Given the description of an element on the screen output the (x, y) to click on. 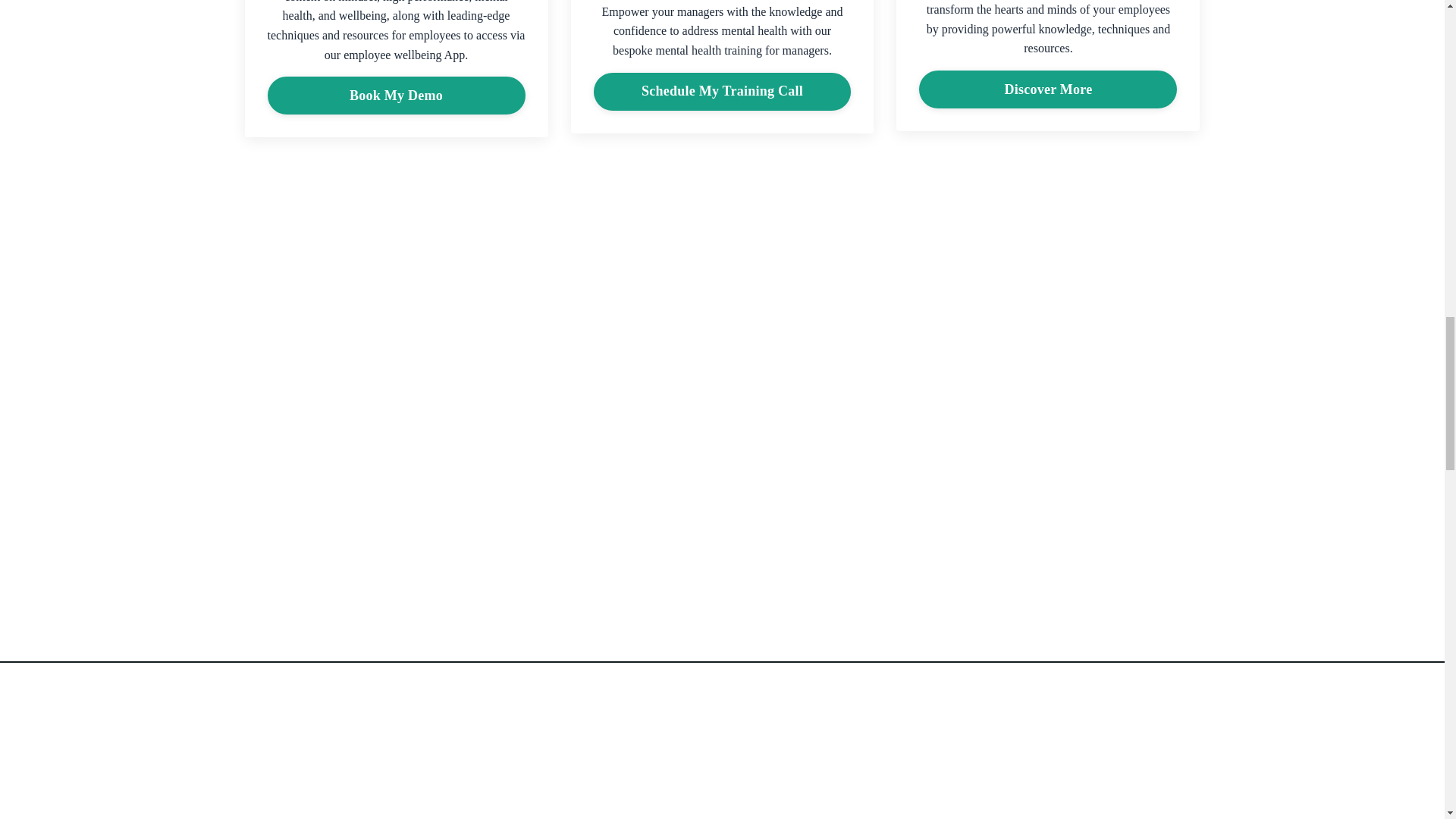
Discover More (1047, 89)
Book My Demo (396, 95)
Schedule My Training Call (721, 91)
